Given the description of an element on the screen output the (x, y) to click on. 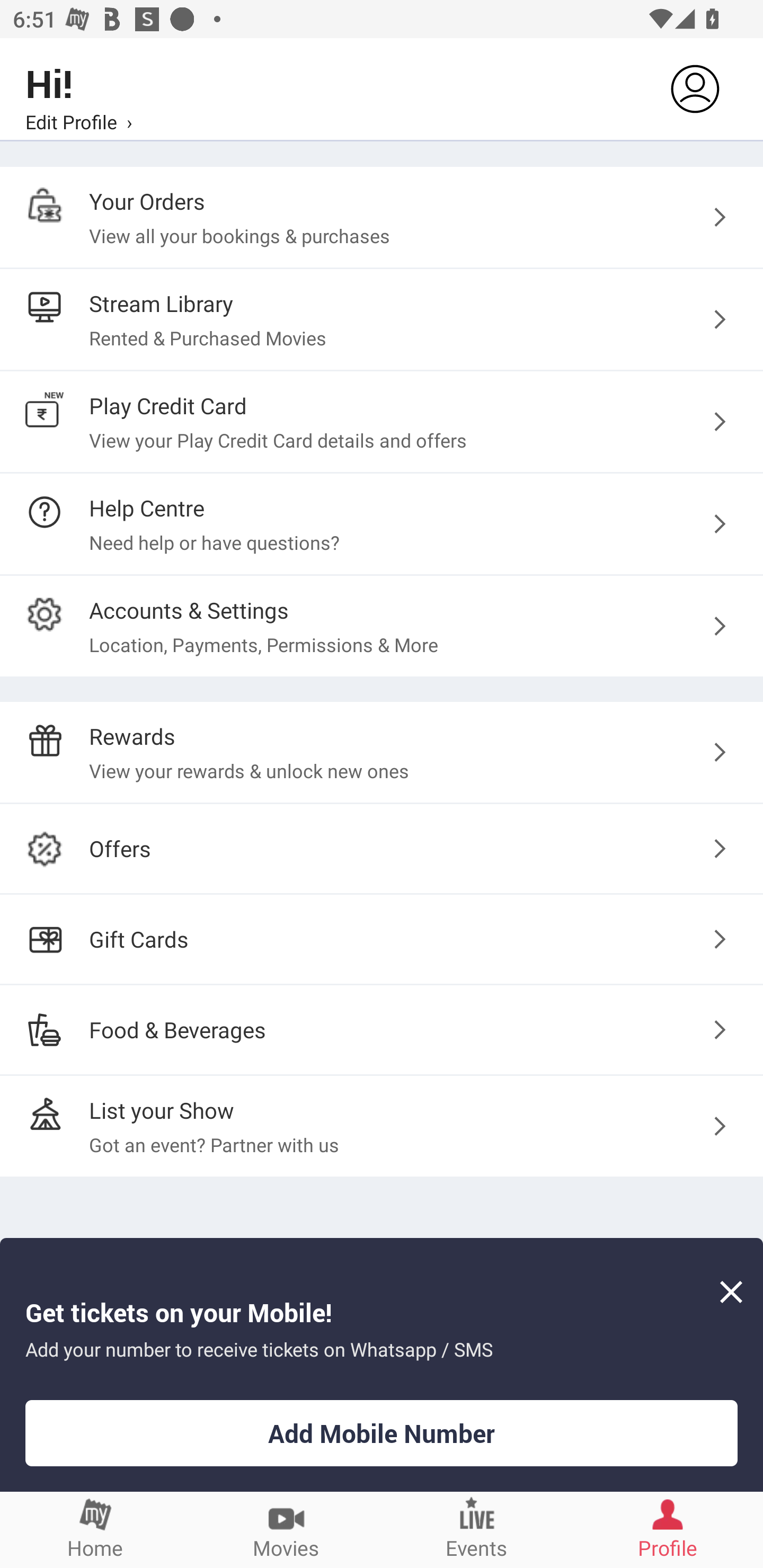
Edit Profile  › (78, 121)
Your Orders View all your bookings & purchases (381, 217)
Stream Library Rented & Purchased Movies (381, 319)
Help Centre Need help or have questions? (381, 523)
Rewards View your rewards & unlock new ones (381, 752)
Offers (381, 848)
Gift Cards (381, 939)
Food & Beverages (381, 1029)
List your Show Got an event? Partner with us (381, 1125)
Add Mobile Number (381, 1432)
Home (95, 1529)
Movies (285, 1529)
Events (476, 1529)
Profile (667, 1529)
